Given the description of an element on the screen output the (x, y) to click on. 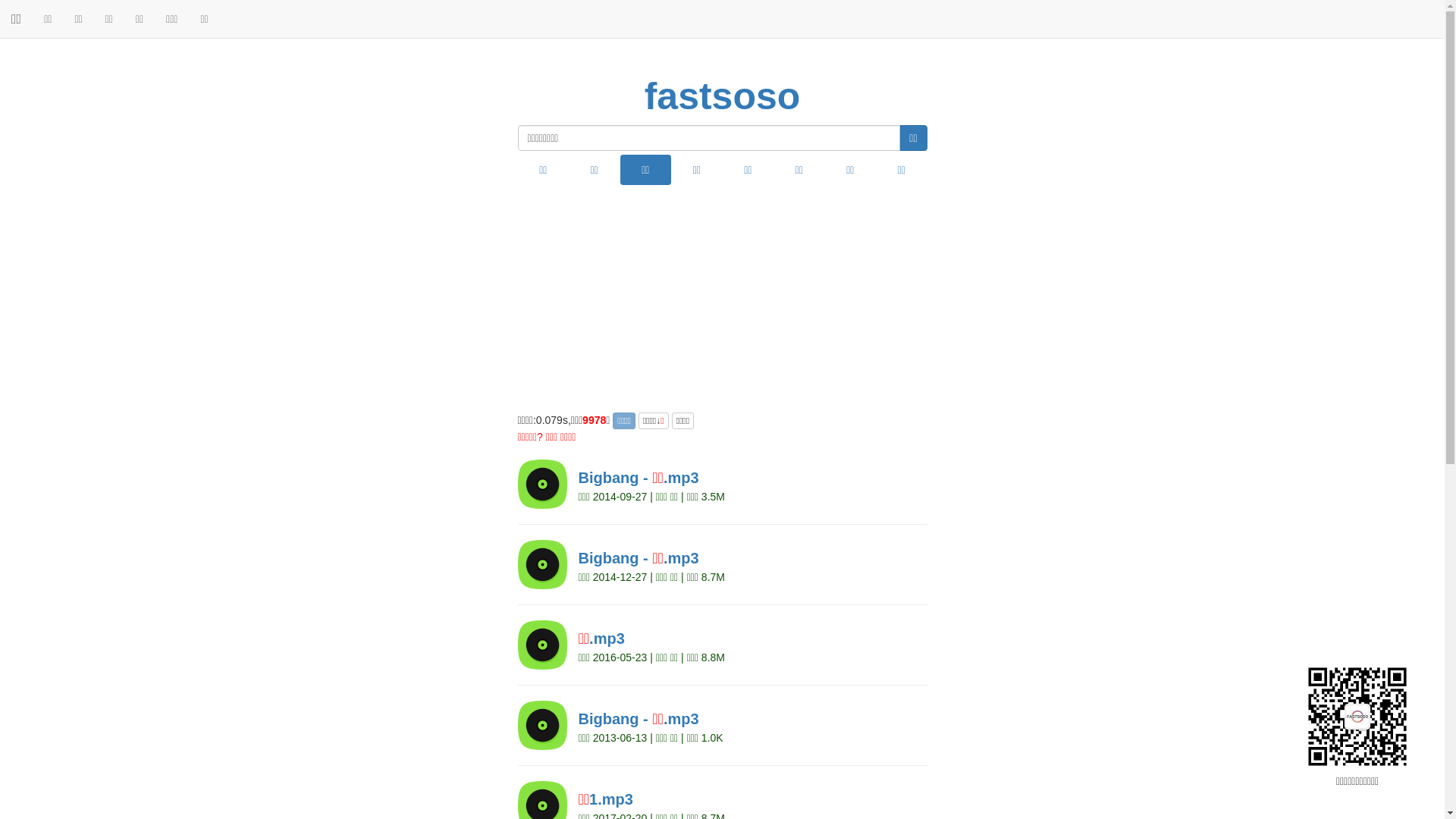
fastsoso Element type: text (722, 96)
